Given the description of an element on the screen output the (x, y) to click on. 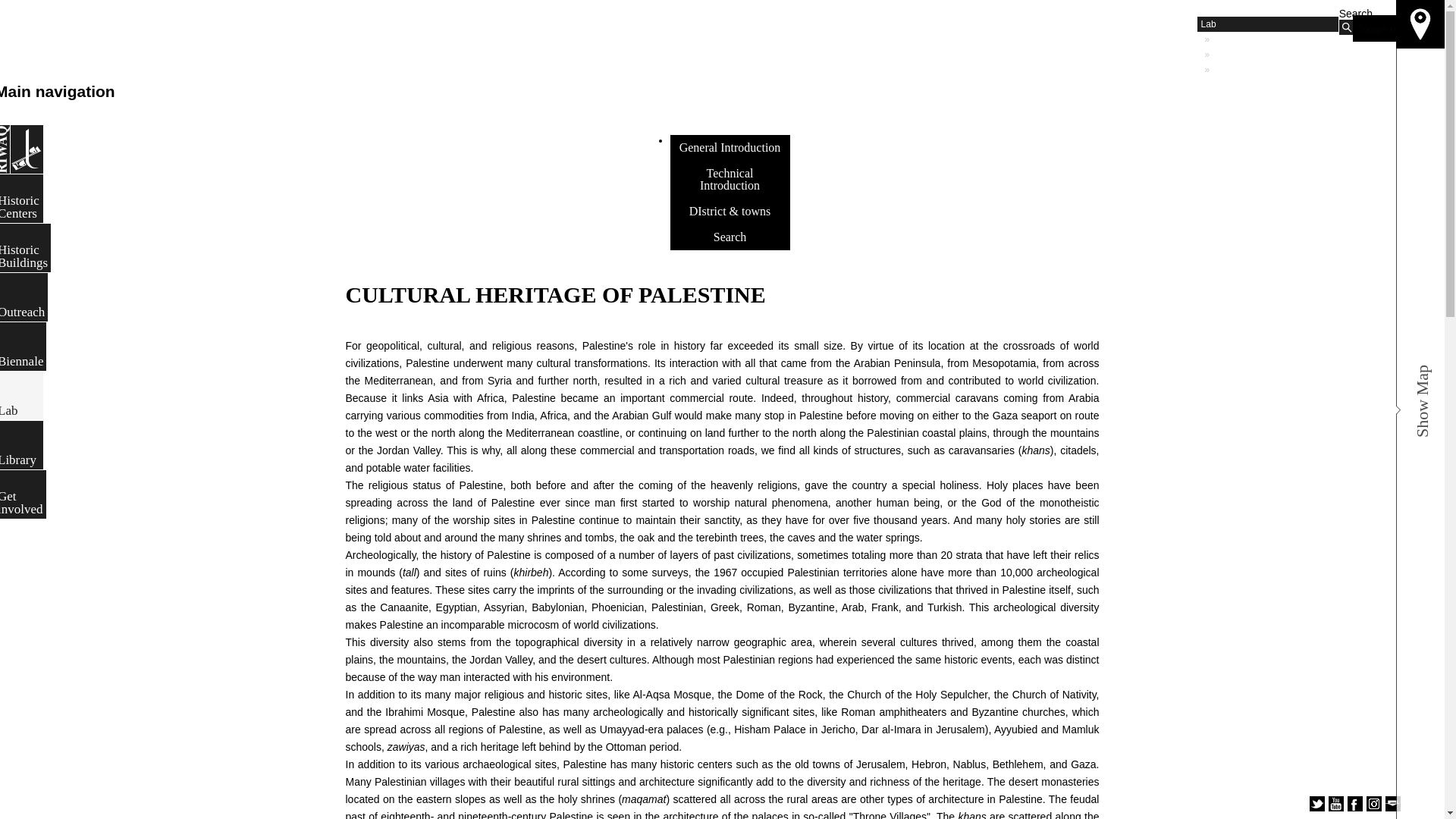
Search (1346, 27)
